Given the description of an element on the screen output the (x, y) to click on. 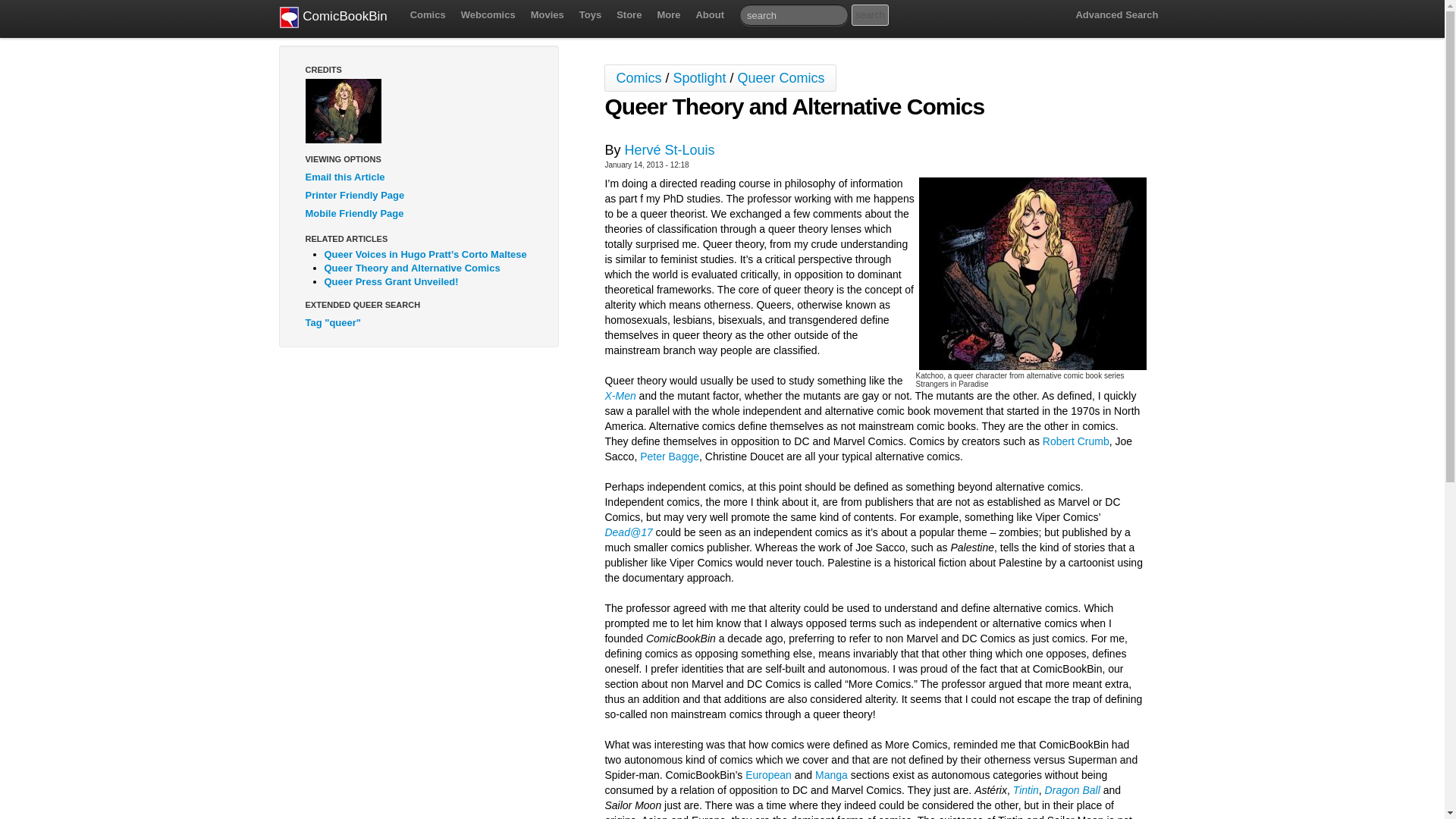
More (668, 15)
Webcomics (487, 15)
Comics (427, 15)
Toys (590, 15)
Movies (547, 15)
About (709, 15)
search (869, 14)
 ComicBookBin (333, 18)
Store (628, 15)
